Given the description of an element on the screen output the (x, y) to click on. 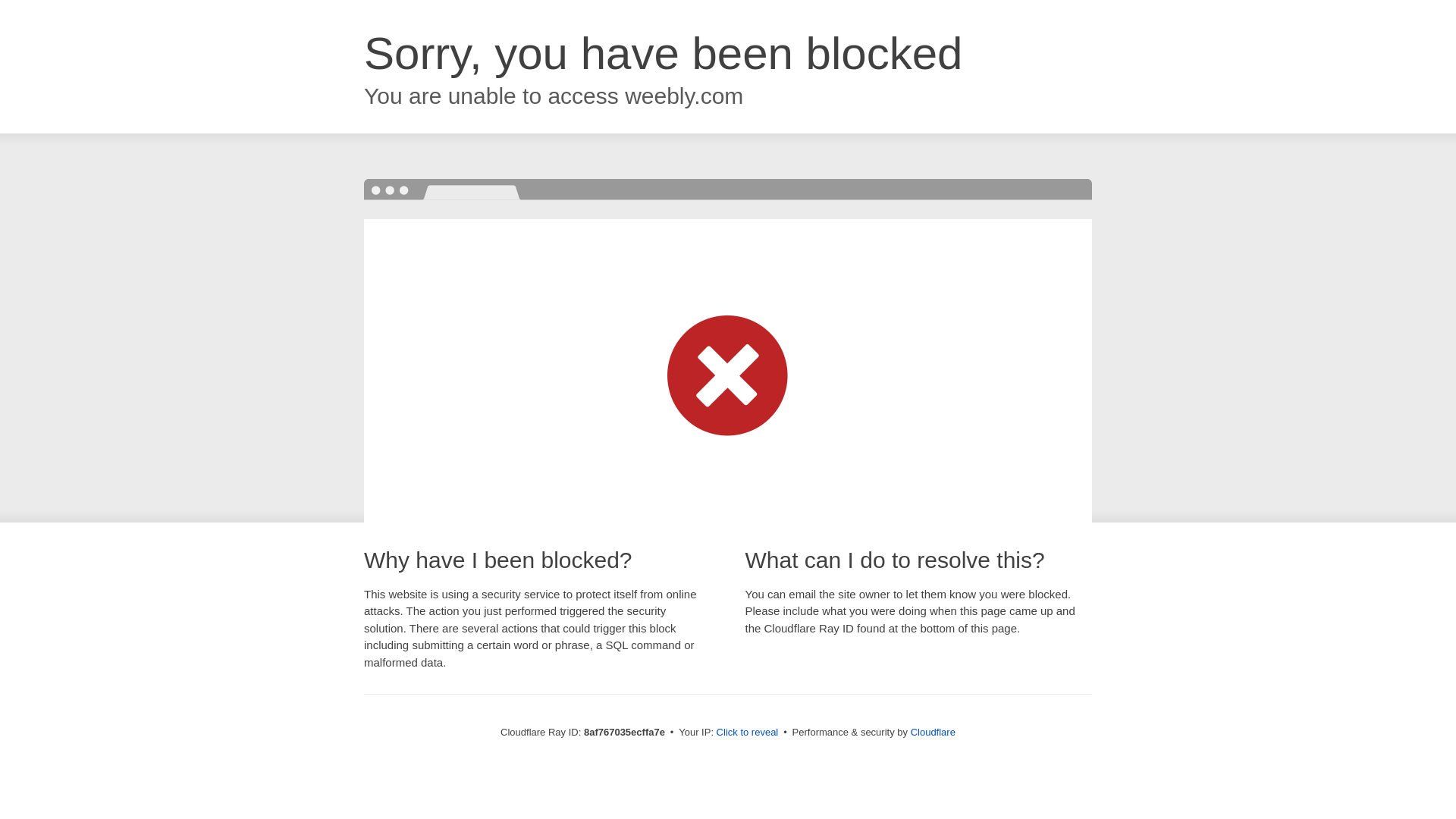
Cloudflare (933, 731)
Click to reveal (747, 732)
